Given the description of an element on the screen output the (x, y) to click on. 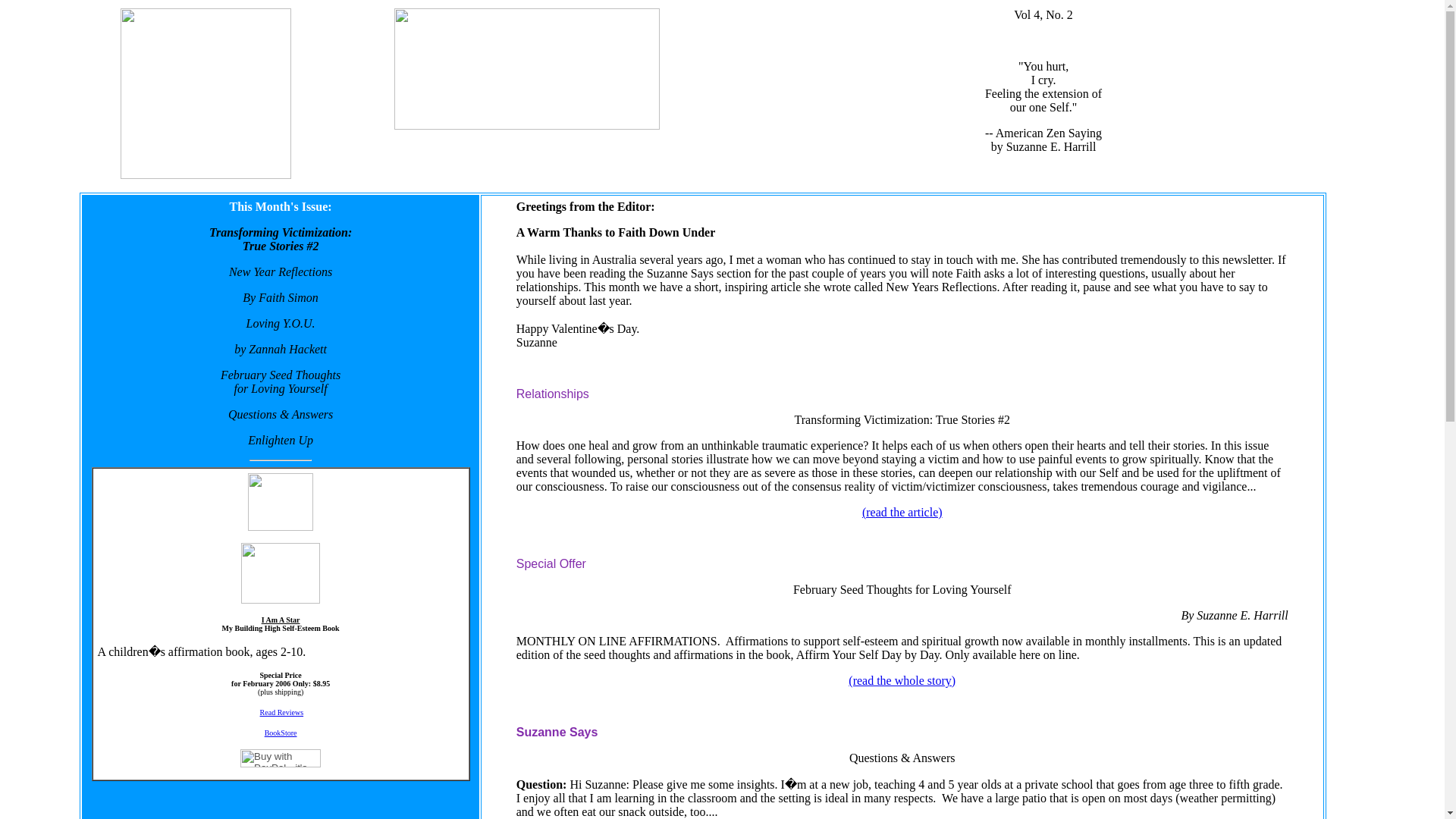
Read Reviews (282, 710)
BookStore (280, 732)
